Given the description of an element on the screen output the (x, y) to click on. 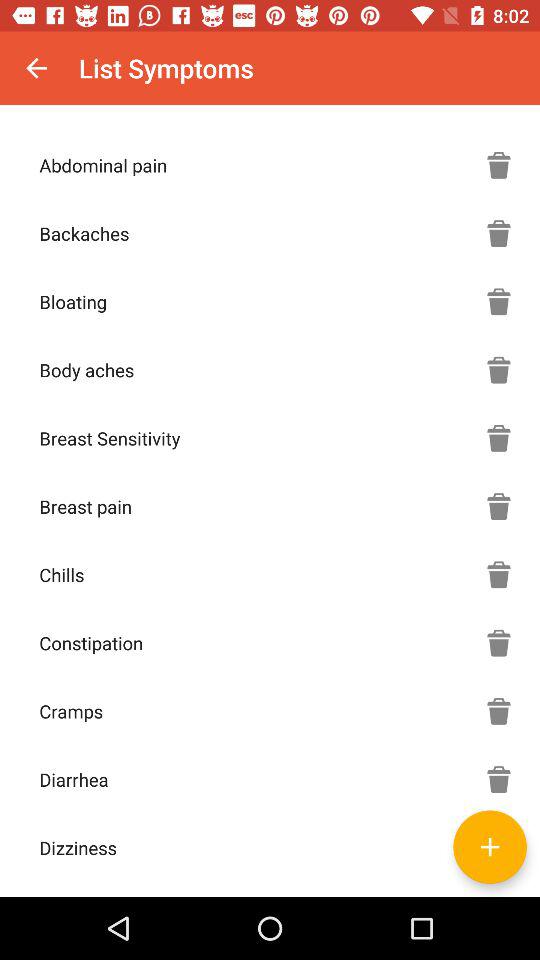
delete option (499, 643)
